Given the description of an element on the screen output the (x, y) to click on. 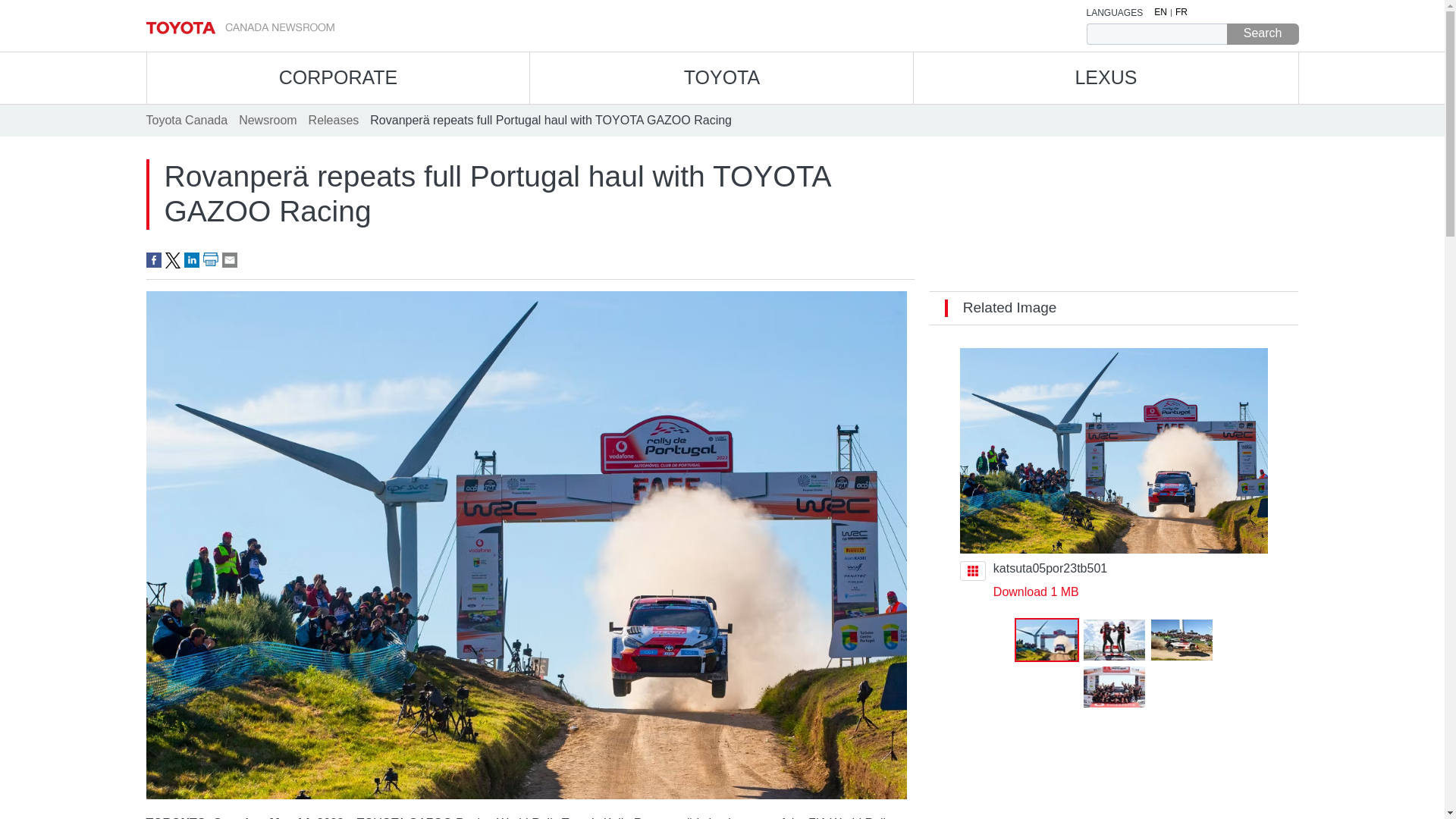
linkedin icon (190, 259)
print icon (210, 259)
facebook icon (152, 259)
mail icon (228, 259)
katsuta05por23tb501 (1113, 450)
tiwtter icon (172, 259)
FR (1181, 12)
Search (1262, 34)
katsuta05por23tb501 (1035, 591)
EN (1160, 12)
CORPORATE (338, 78)
TOYOTA (720, 78)
